Given the description of an element on the screen output the (x, y) to click on. 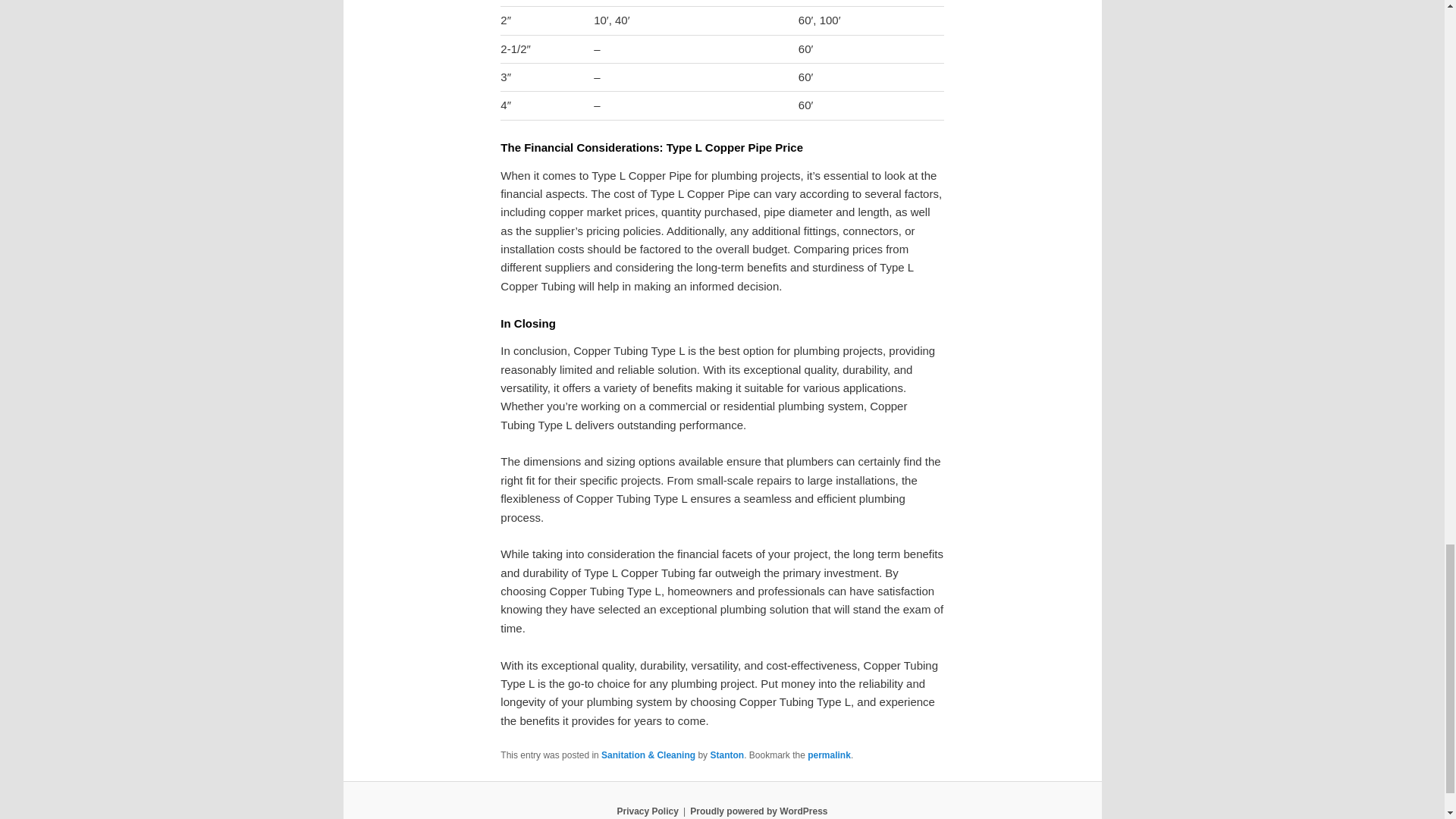
Privacy Policy (646, 810)
Stanton (727, 755)
Proudly powered by WordPress (758, 810)
Semantic Personal Publishing Platform (758, 810)
permalink (829, 755)
